Given the description of an element on the screen output the (x, y) to click on. 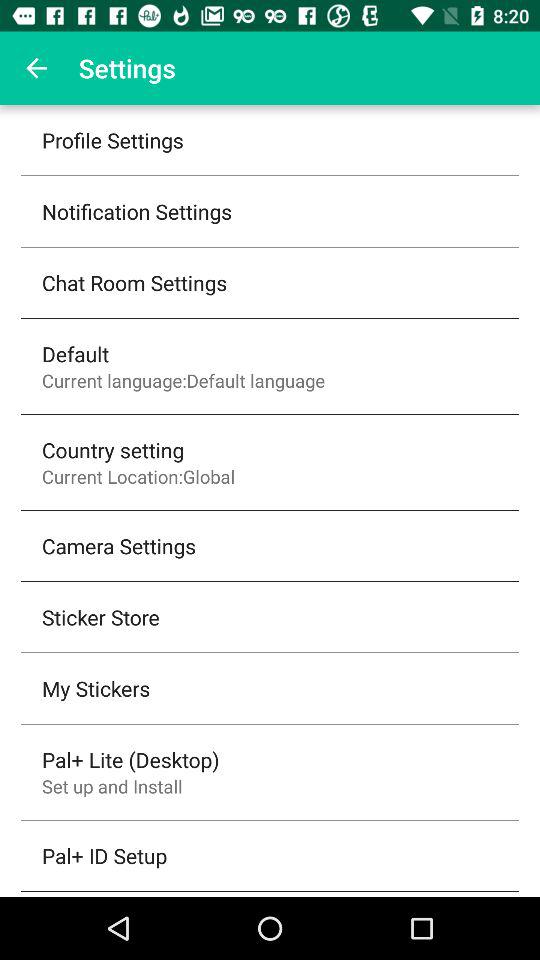
tap the icon below camera settings (100, 617)
